Given the description of an element on the screen output the (x, y) to click on. 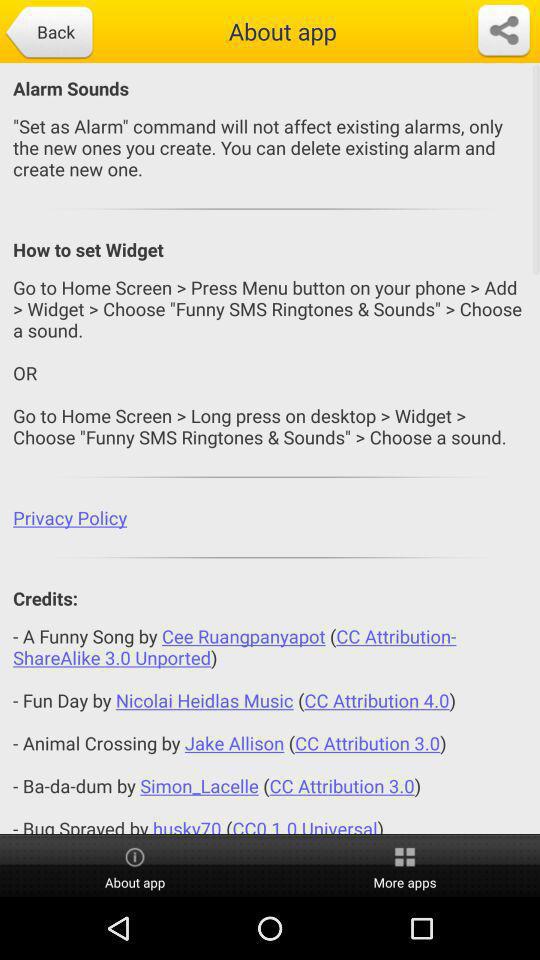
launch app above alarm sounds item (48, 33)
